Given the description of an element on the screen output the (x, y) to click on. 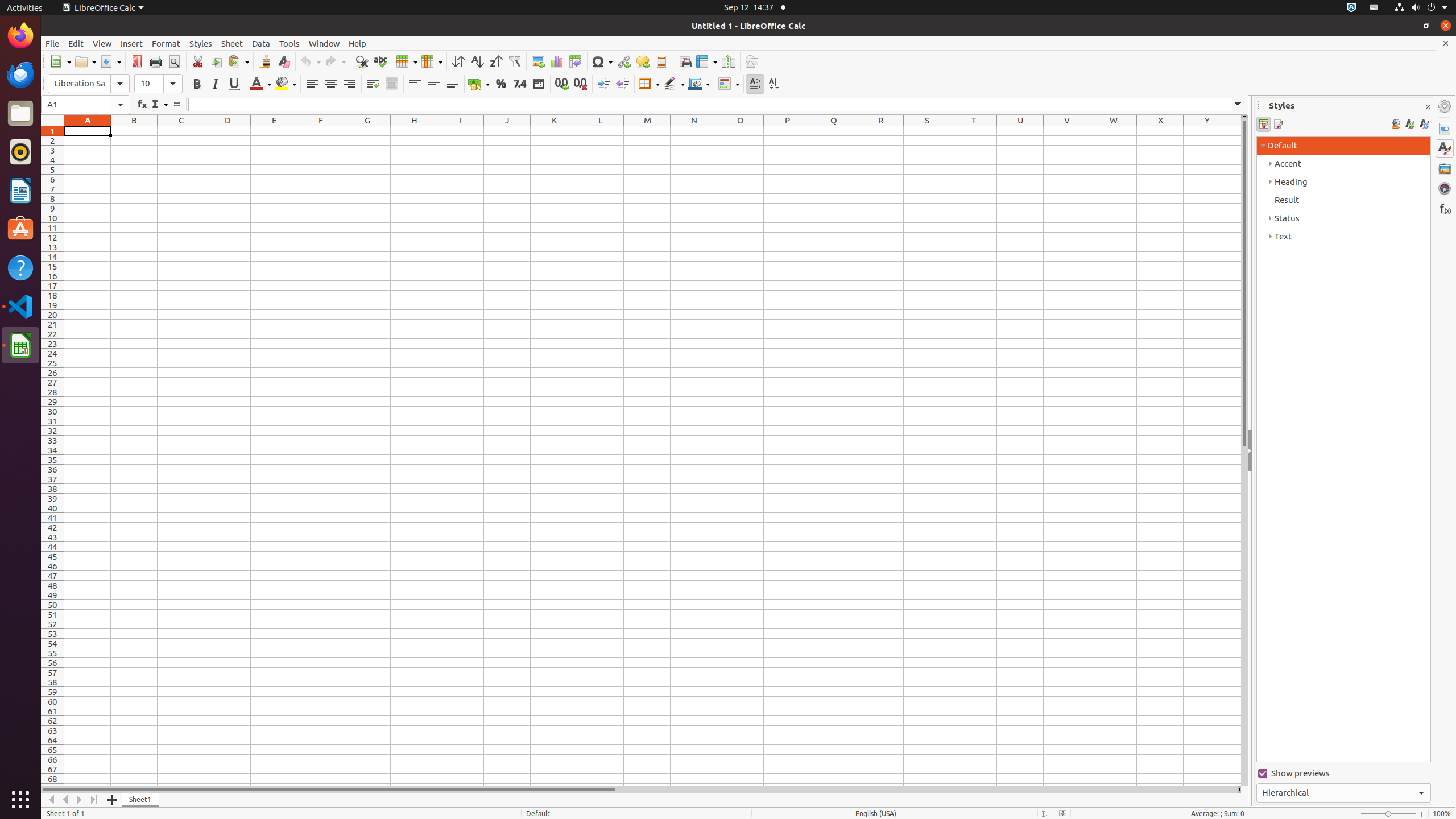
Split Window Element type: push-button (727, 61)
Delete Decimal Place Element type: push-button (580, 83)
AutoFilter Element type: push-button (514, 61)
Visual Studio Code Element type: push-button (20, 306)
File Element type: menu (51, 43)
